Given the description of an element on the screen output the (x, y) to click on. 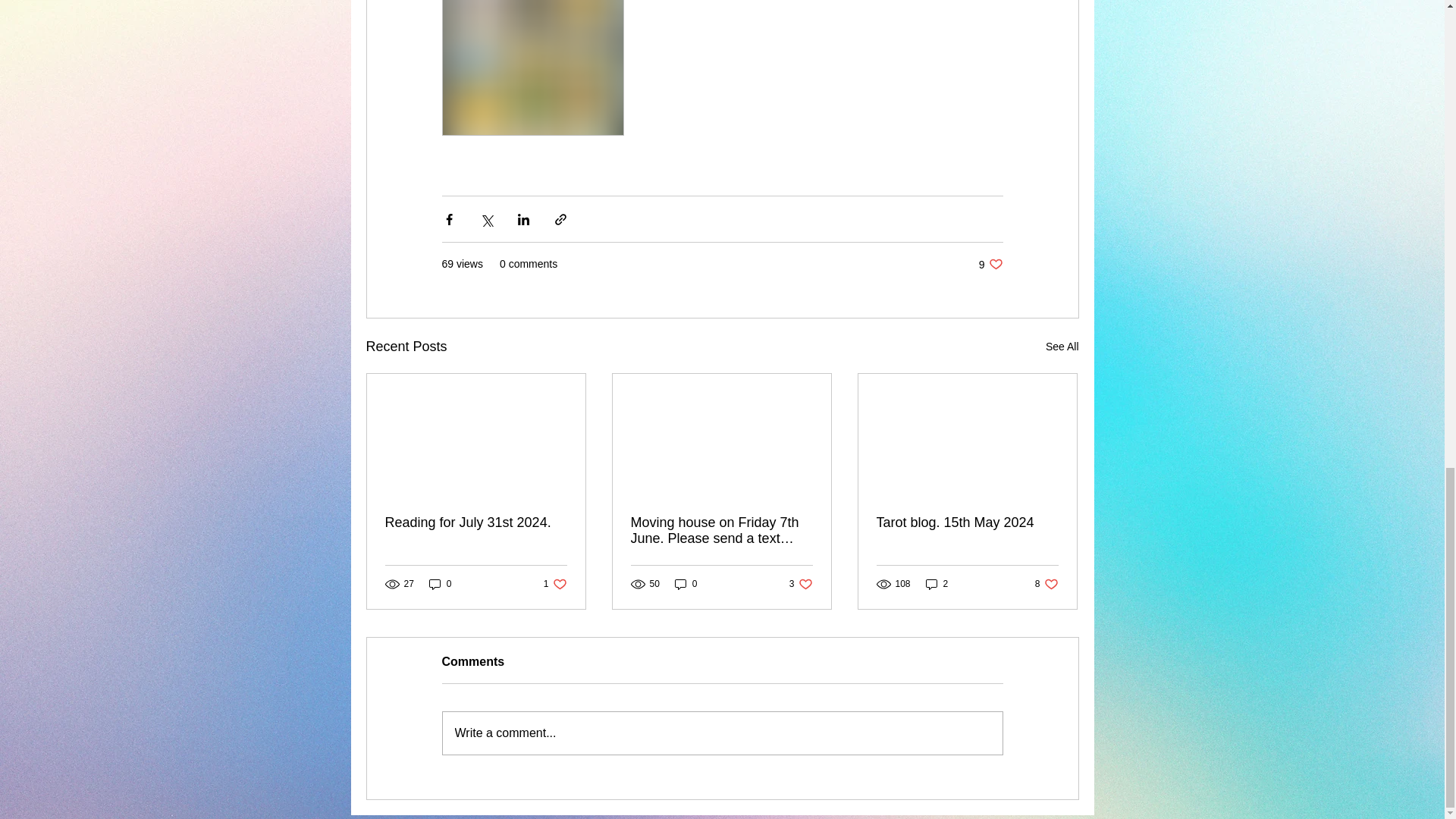
Reading for July 31st 2024. (1046, 584)
2 (476, 522)
See All (937, 584)
0 (1061, 346)
Write a comment... (440, 584)
Tarot blog. 15th May 2024 (722, 732)
0 (555, 584)
